Given the description of an element on the screen output the (x, y) to click on. 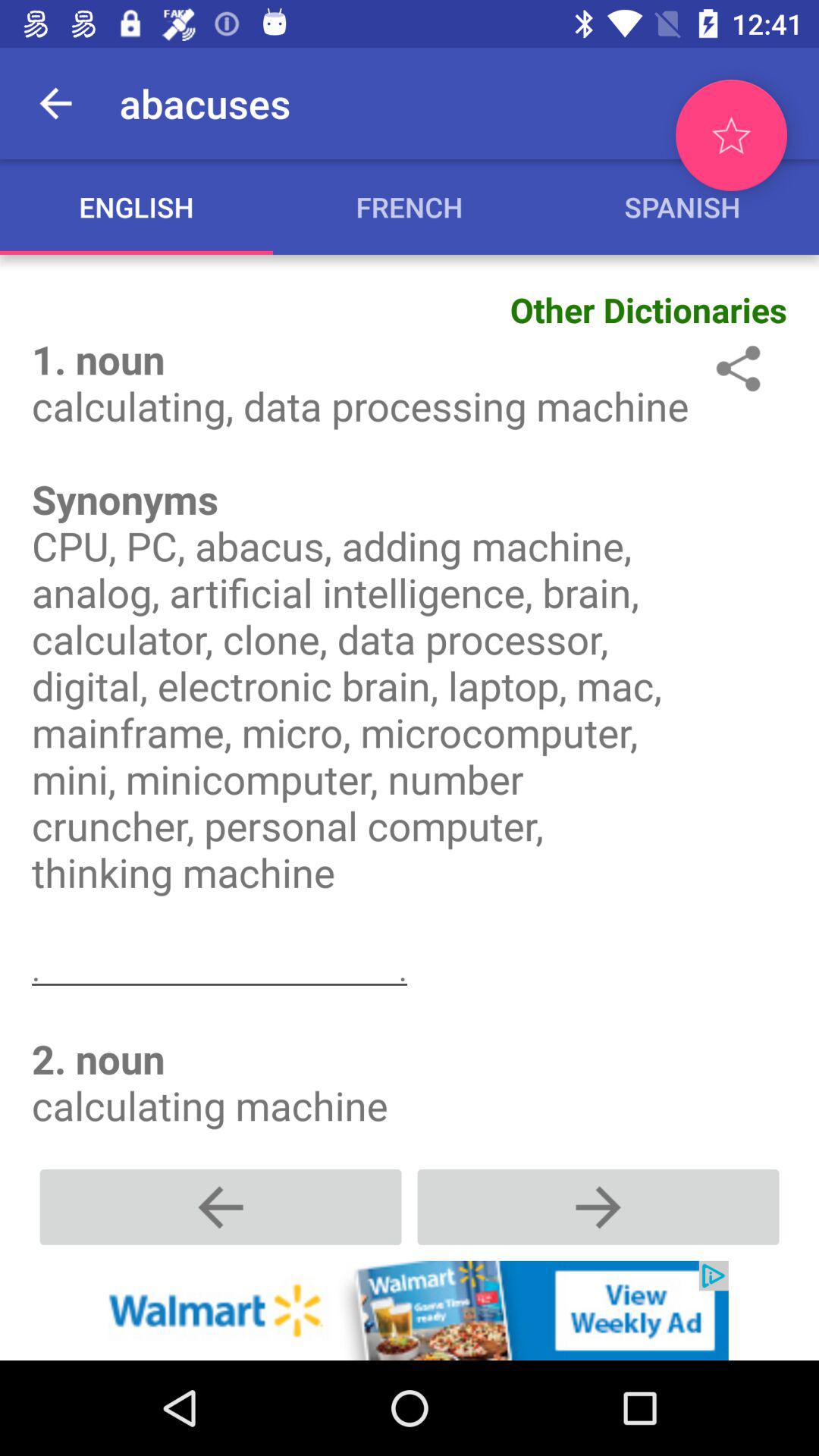
advertisement the article (409, 1310)
